Given the description of an element on the screen output the (x, y) to click on. 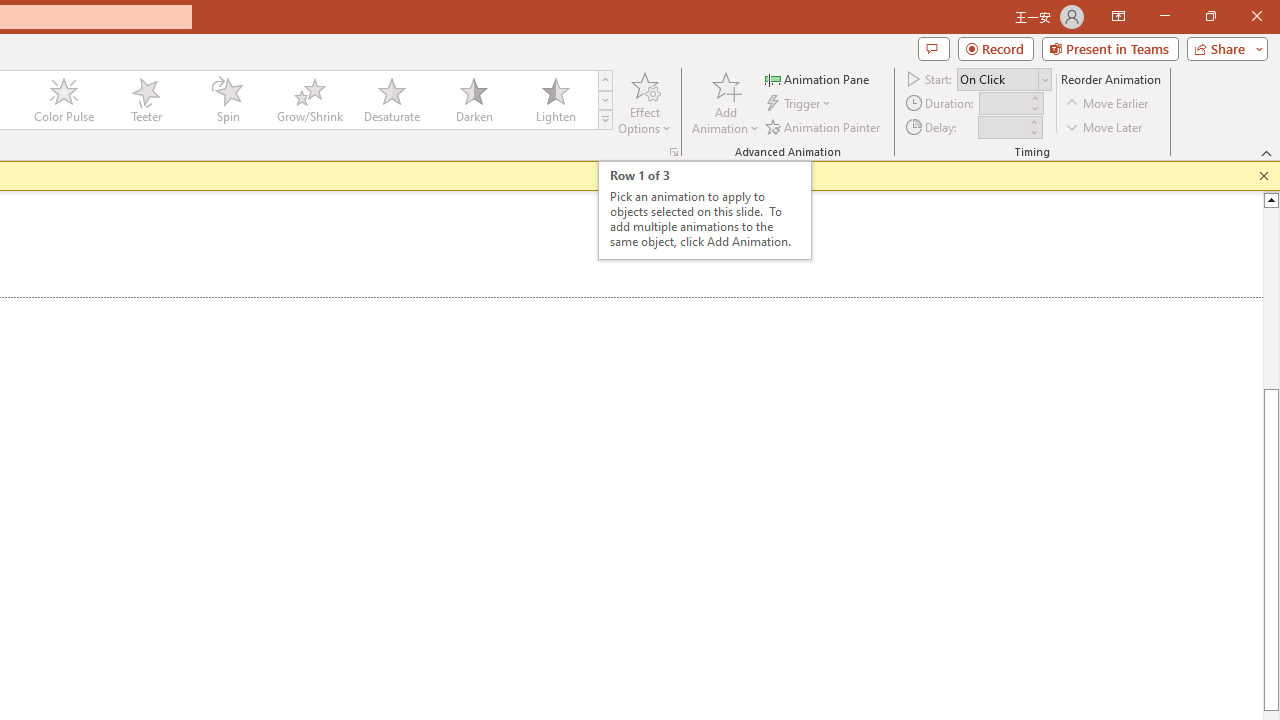
Trigger (799, 103)
Close this message (1263, 176)
Spin (227, 100)
Lighten (555, 100)
Row Down (605, 100)
Add Animation (725, 102)
Color Pulse (63, 100)
Grow/Shrink (309, 100)
Start (1004, 78)
Animation Painter (824, 126)
Animation Delay (1002, 127)
